Given the description of an element on the screen output the (x, y) to click on. 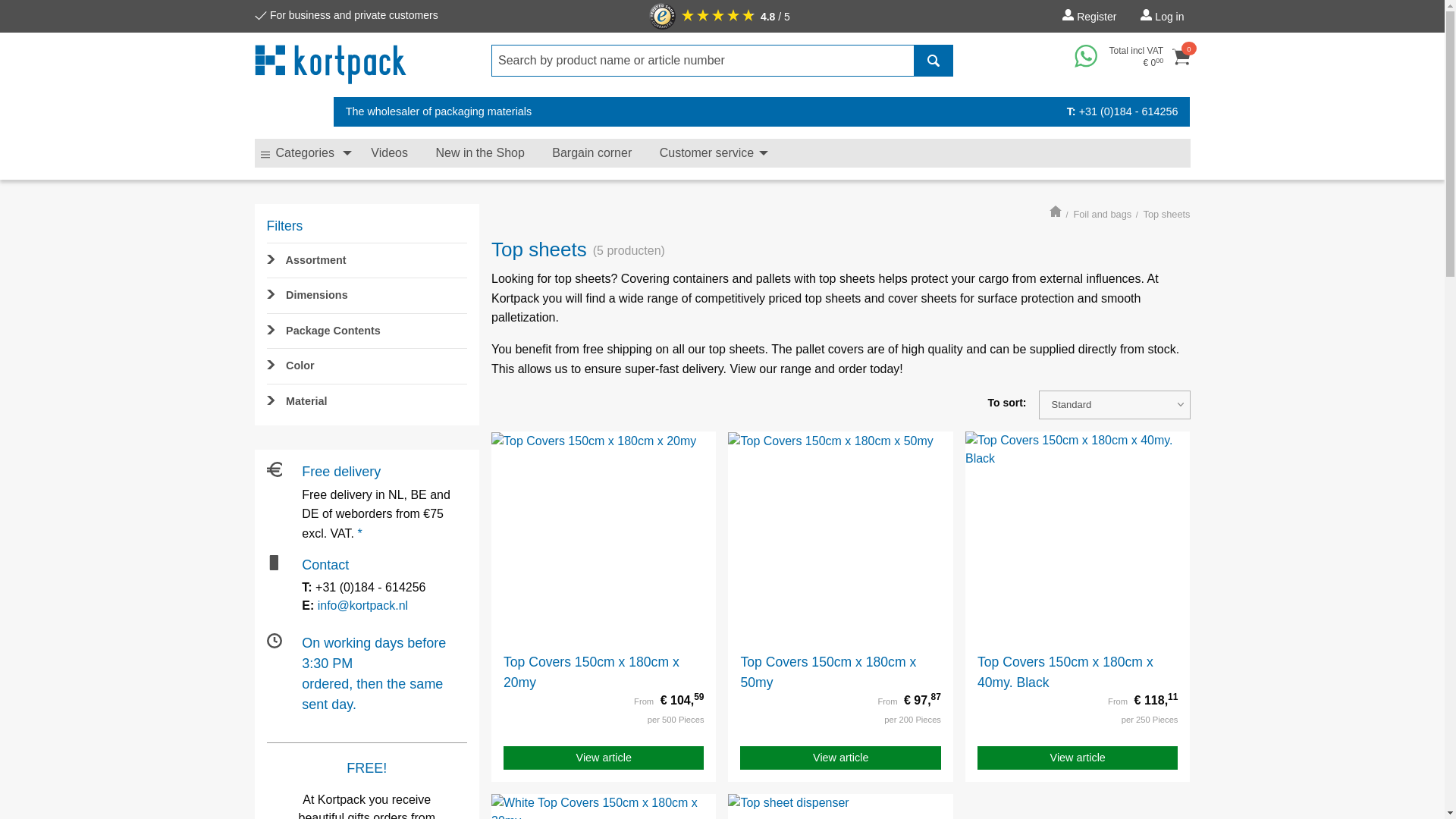
Videos (389, 152)
Clock (274, 640)
Search (933, 60)
Chevron (271, 364)
New in the Shop (479, 152)
Customer service (709, 152)
Chevron (271, 399)
Chevron (271, 329)
Log in (1161, 14)
Chevron (271, 293)
